Given the description of an element on the screen output the (x, y) to click on. 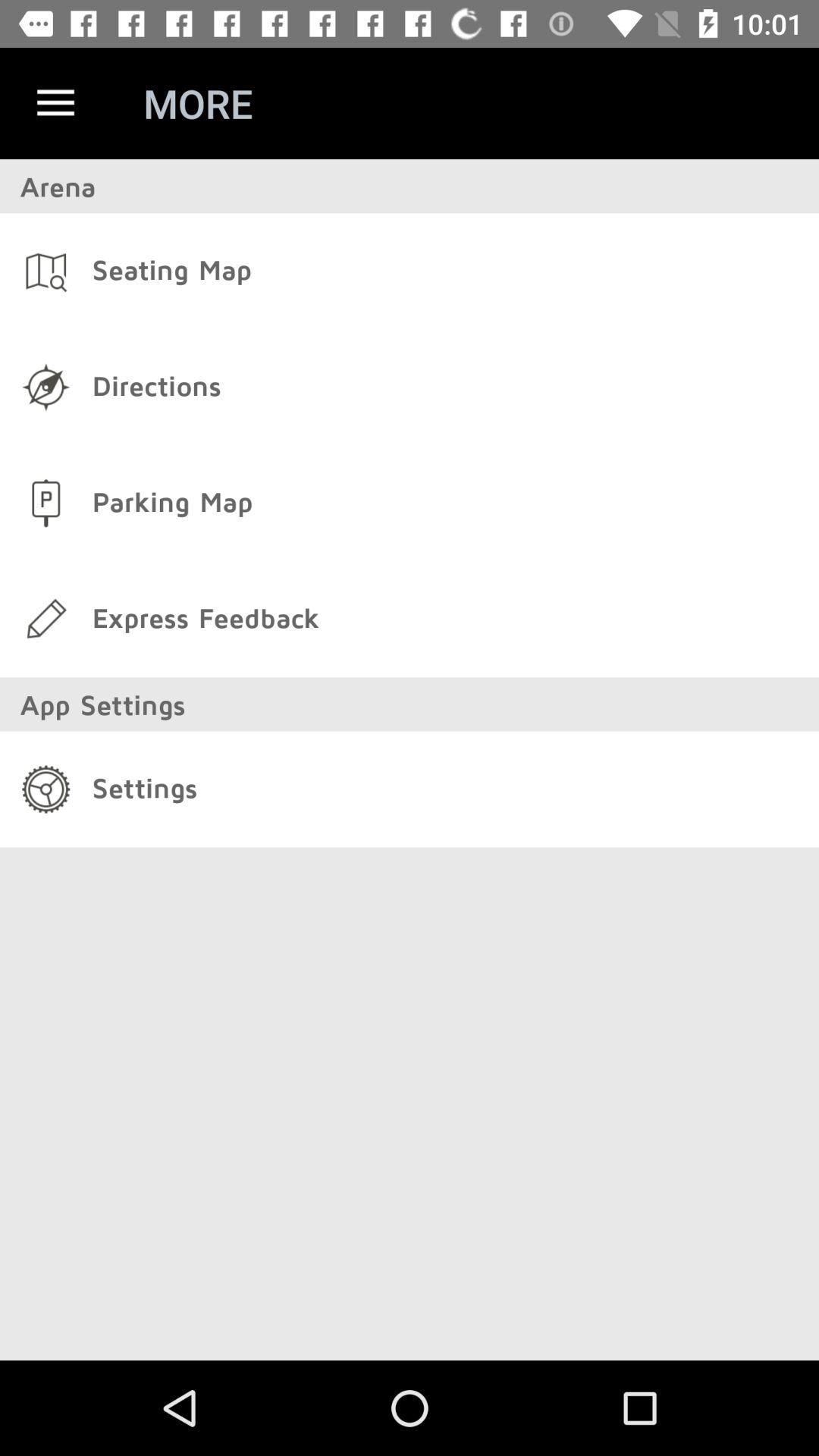
turn on icon to the left of more icon (55, 103)
